Given the description of an element on the screen output the (x, y) to click on. 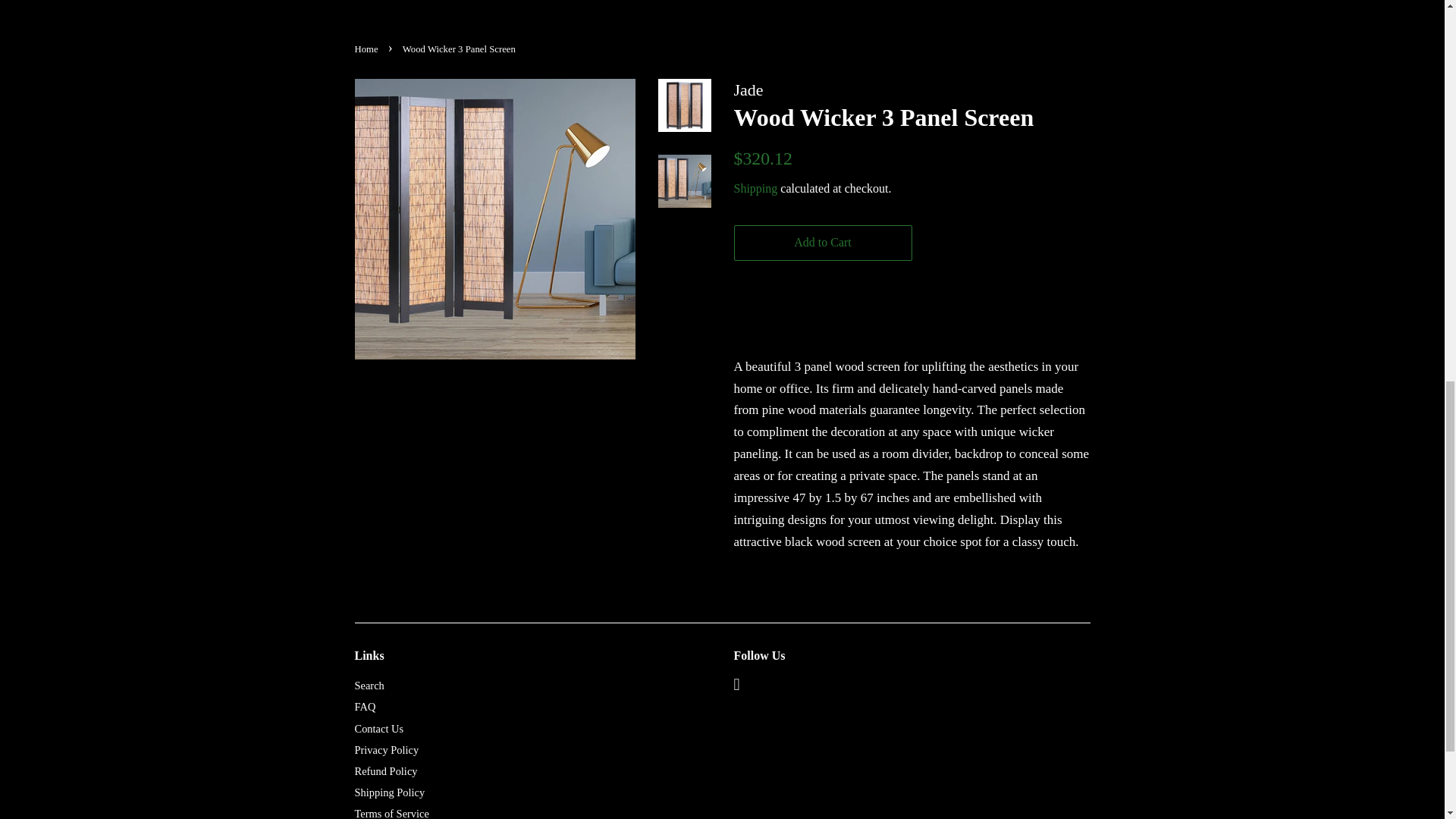
Privacy Policy (387, 749)
Shipping Policy (390, 792)
Catalog (699, 3)
Home (368, 49)
Track My Order (780, 3)
Terms of Service (392, 813)
Search (369, 685)
Contact Us (379, 728)
Back to the frontpage (368, 49)
Refund Policy (386, 770)
